Given the description of an element on the screen output the (x, y) to click on. 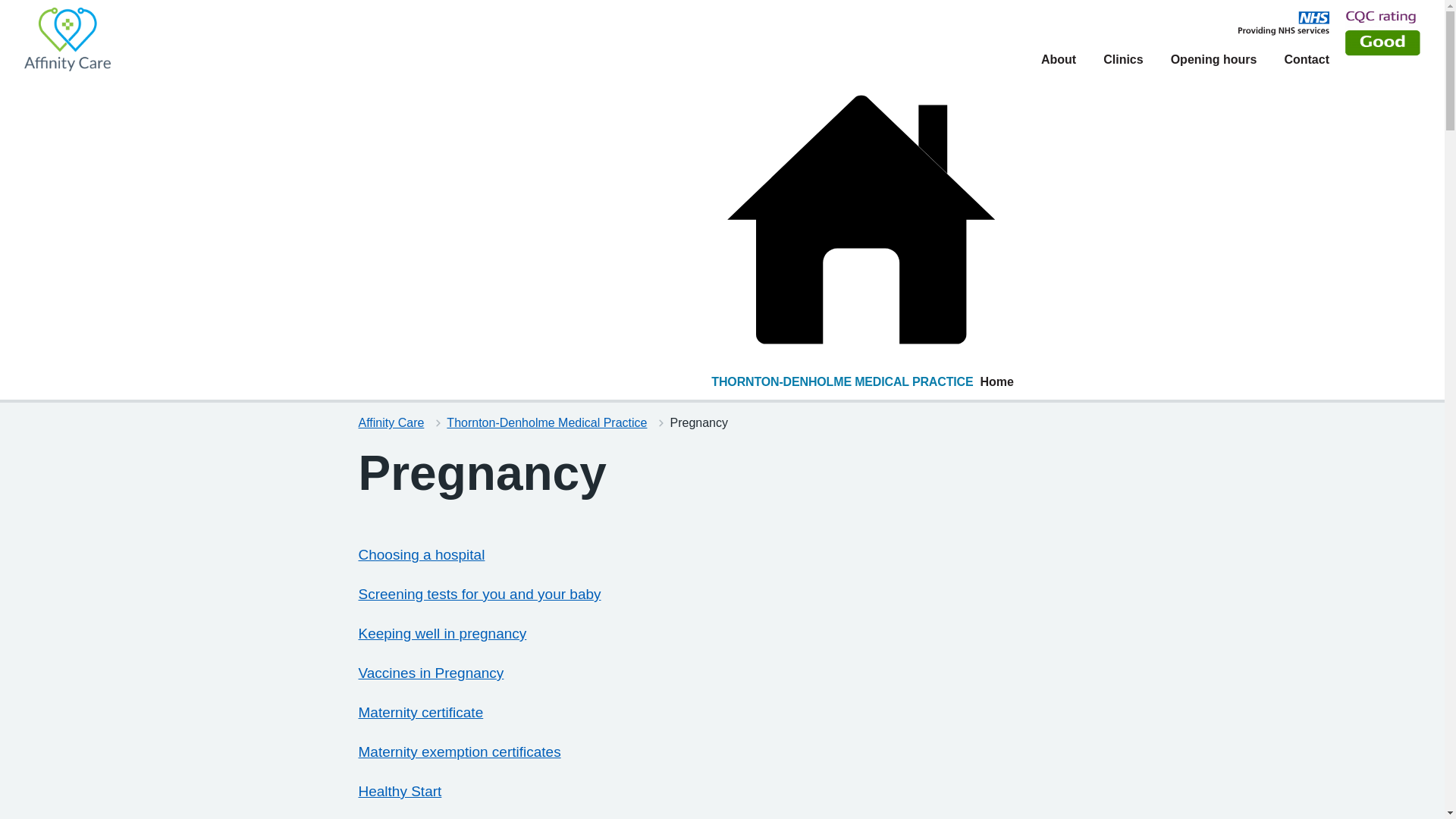
Clinics (1122, 58)
Maternity certificate (420, 712)
Choosing a hospital (421, 554)
Opening hours (1213, 58)
Affinity Care (390, 422)
Maternity exemption certificates (459, 751)
Keeping well in pregnancy (441, 633)
Vaccines in Pregnancy (430, 672)
Thornton-Denholme Medical Practice (546, 422)
Healthy Start (399, 790)
Contact (1306, 58)
About (1058, 58)
Screening tests for you and your baby (478, 593)
